Given the description of an element on the screen output the (x, y) to click on. 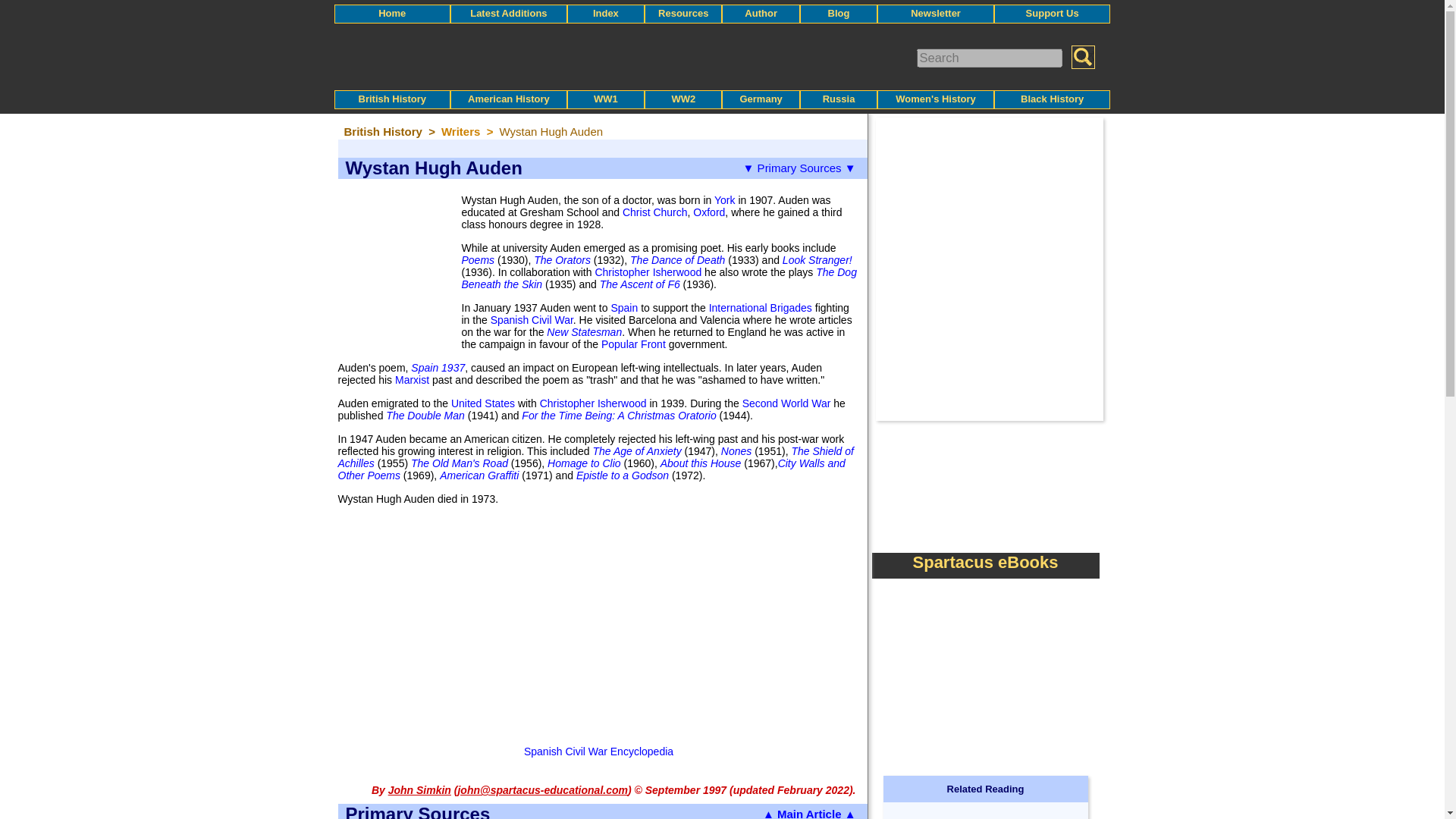
The Dance of Death (677, 259)
Oxford (709, 212)
Popular Front (633, 344)
Christ Church (655, 212)
Author (760, 12)
Look Stranger! (817, 259)
New Statesman (584, 331)
Resources (682, 12)
The Dog Beneath the Skin (658, 278)
York (724, 200)
American History (508, 98)
The Ascent of F6 (639, 284)
Germany (760, 98)
Spanish Civil War (531, 319)
Blog (839, 12)
